Given the description of an element on the screen output the (x, y) to click on. 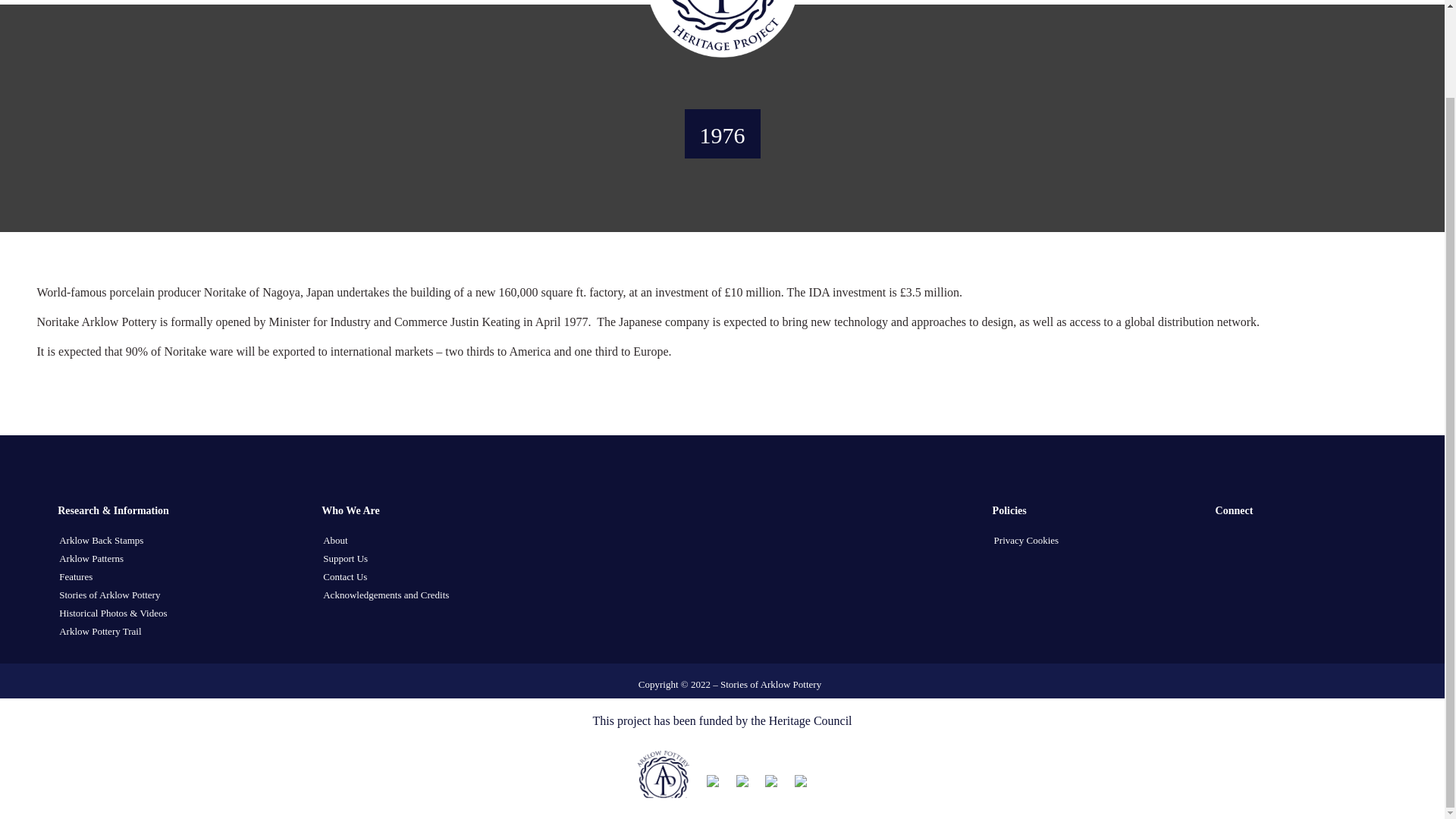
Contact Us (344, 576)
Acknowledgements and Credits (385, 594)
Stories of Arklow Pottery (109, 594)
Arklow Pottery -  (721, 28)
About (335, 540)
Arklow Patterns (91, 558)
Support Us (345, 558)
Arklow Pottery Trail (100, 631)
Features (76, 576)
Privacy Cookies (1026, 540)
